Given the description of an element on the screen output the (x, y) to click on. 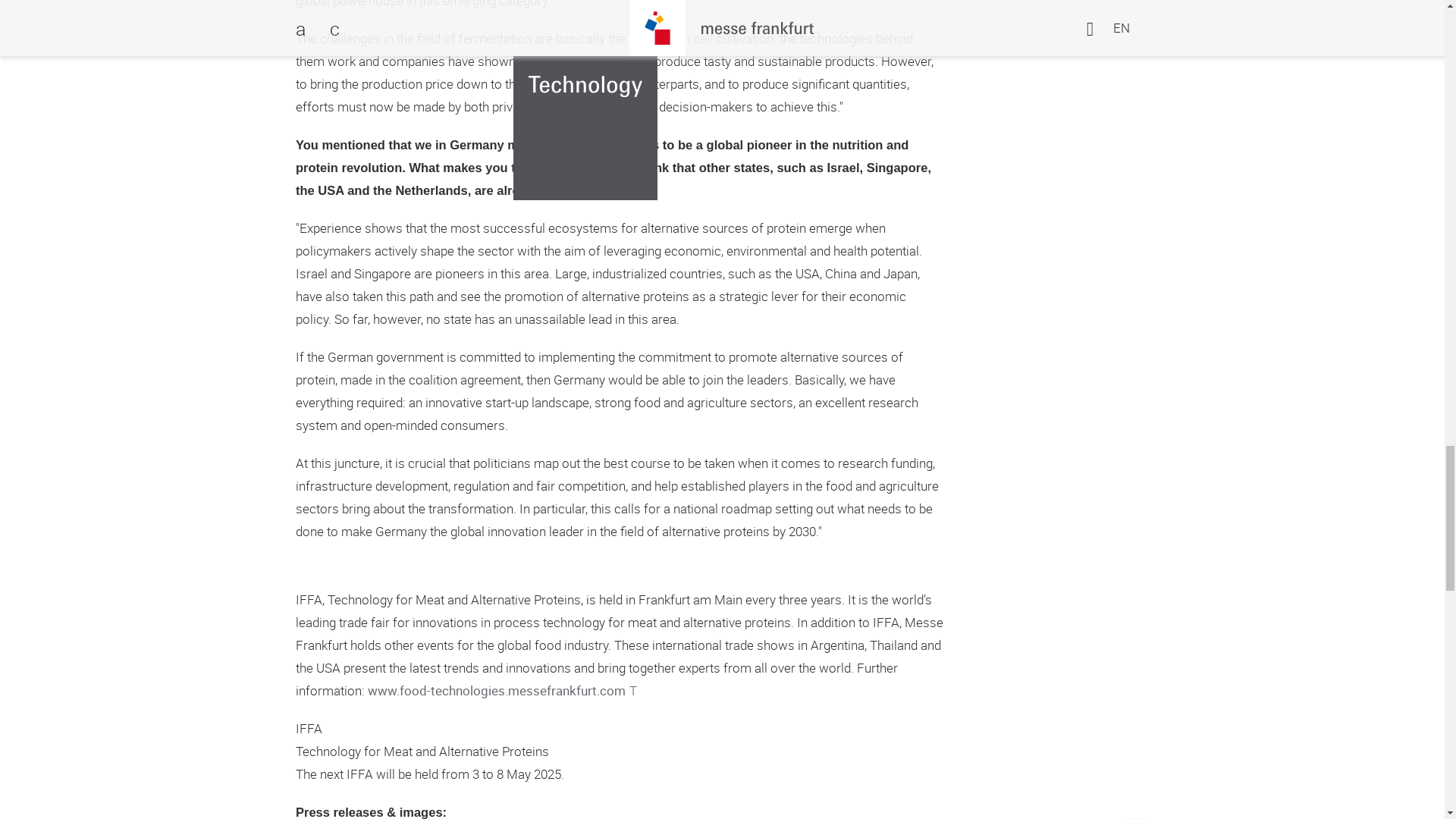
www.food-technologies.messefrankfurt.com (502, 690)
